Given the description of an element on the screen output the (x, y) to click on. 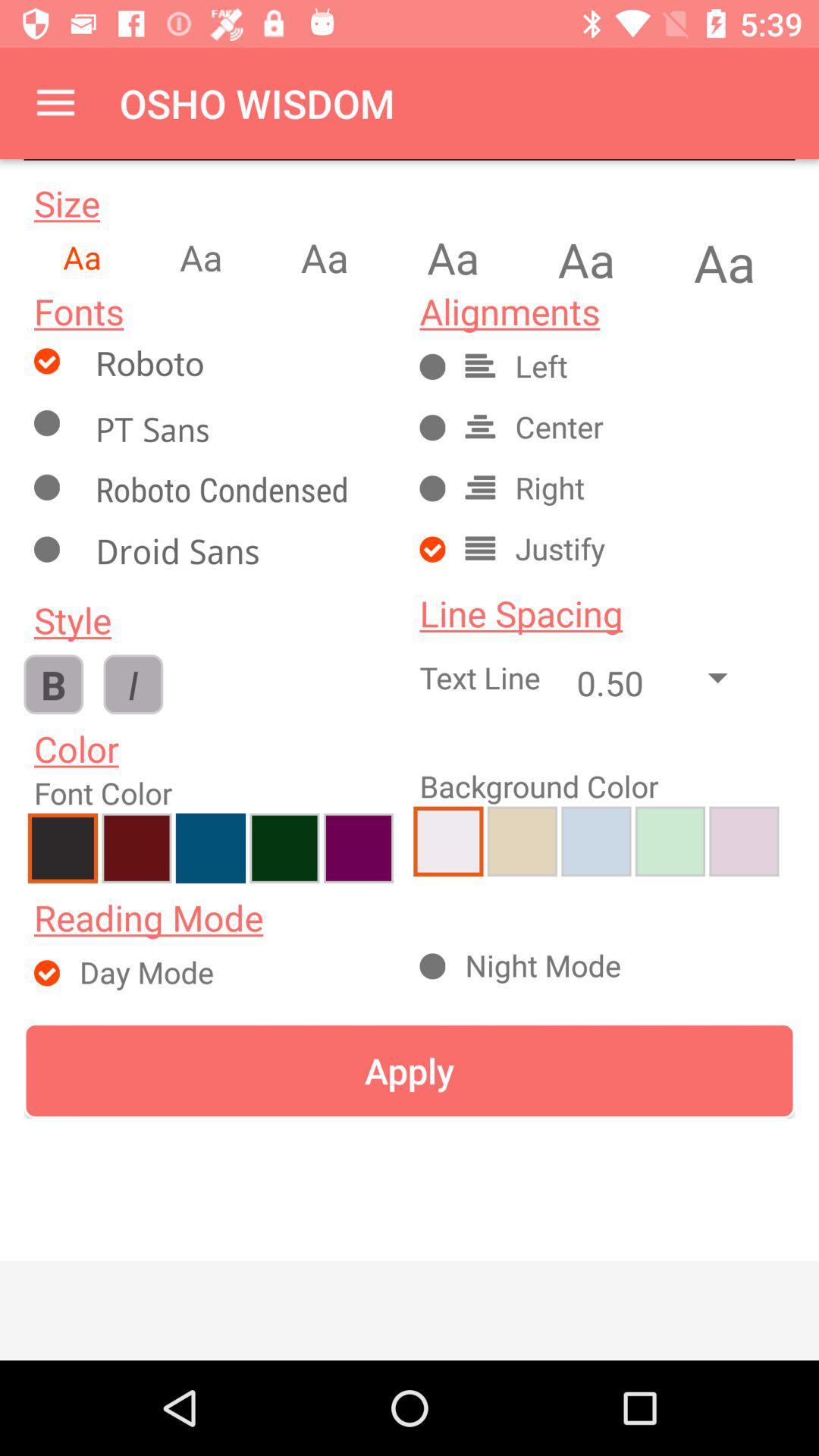
click on the green background color (670, 841)
